Given the description of an element on the screen output the (x, y) to click on. 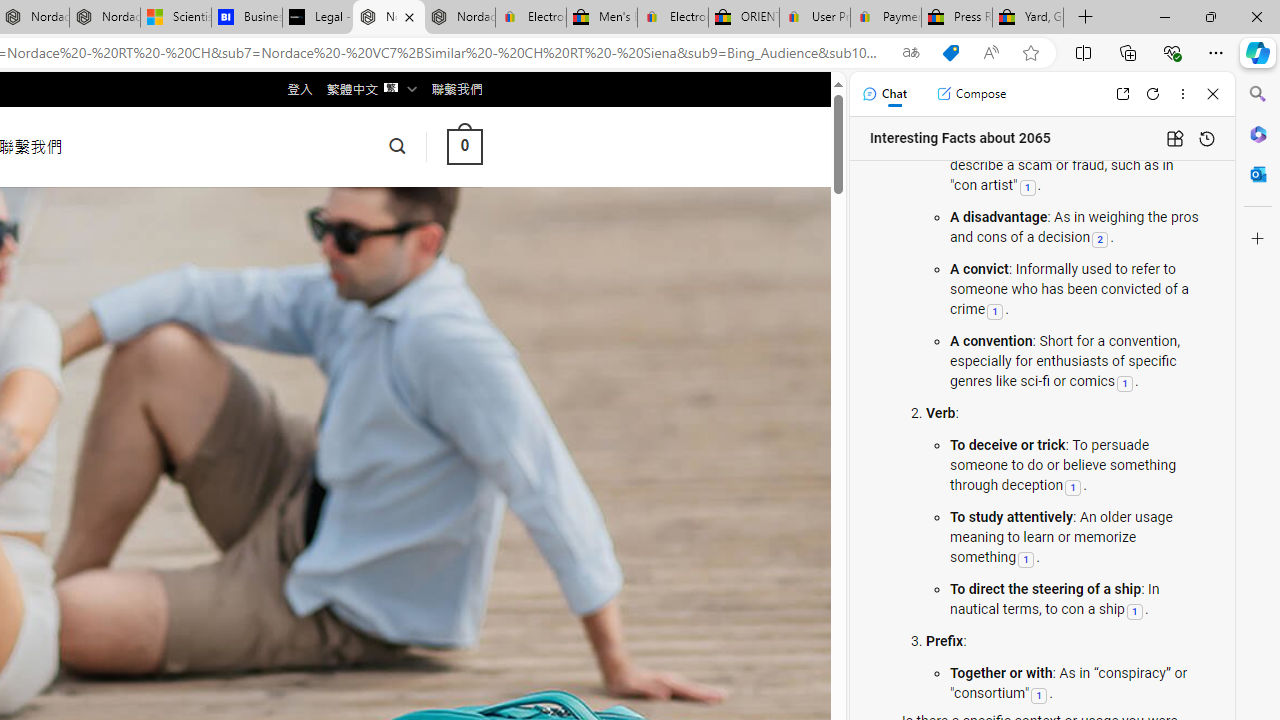
  0   (464, 146)
Compose (971, 93)
Yard, Garden & Outdoor Living (1028, 17)
Chat (884, 93)
